Given the description of an element on the screen output the (x, y) to click on. 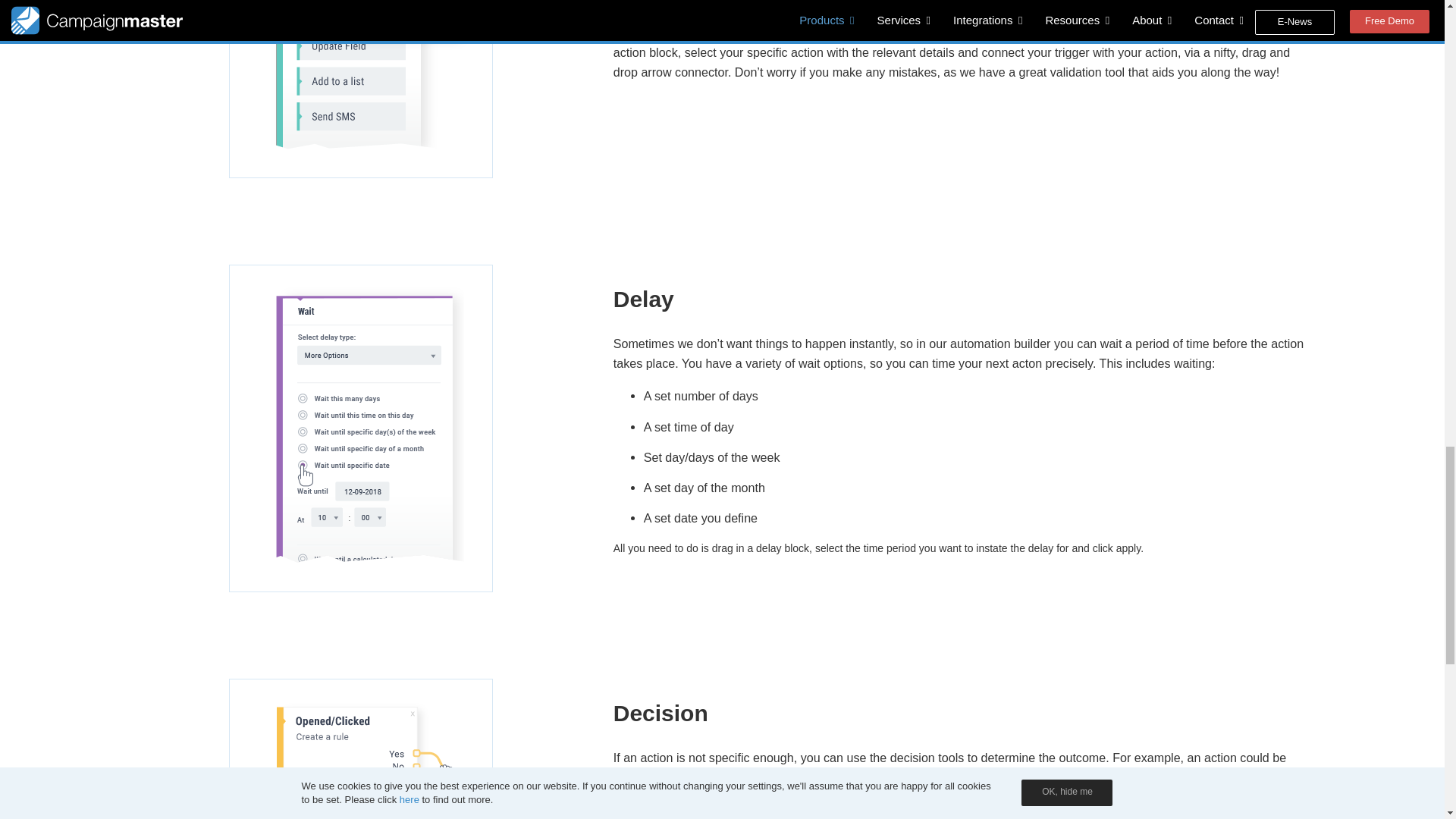
Automation Decision - Campaignmaster (360, 746)
Automation Actions - Campaignmaster (360, 89)
